Given the description of an element on the screen output the (x, y) to click on. 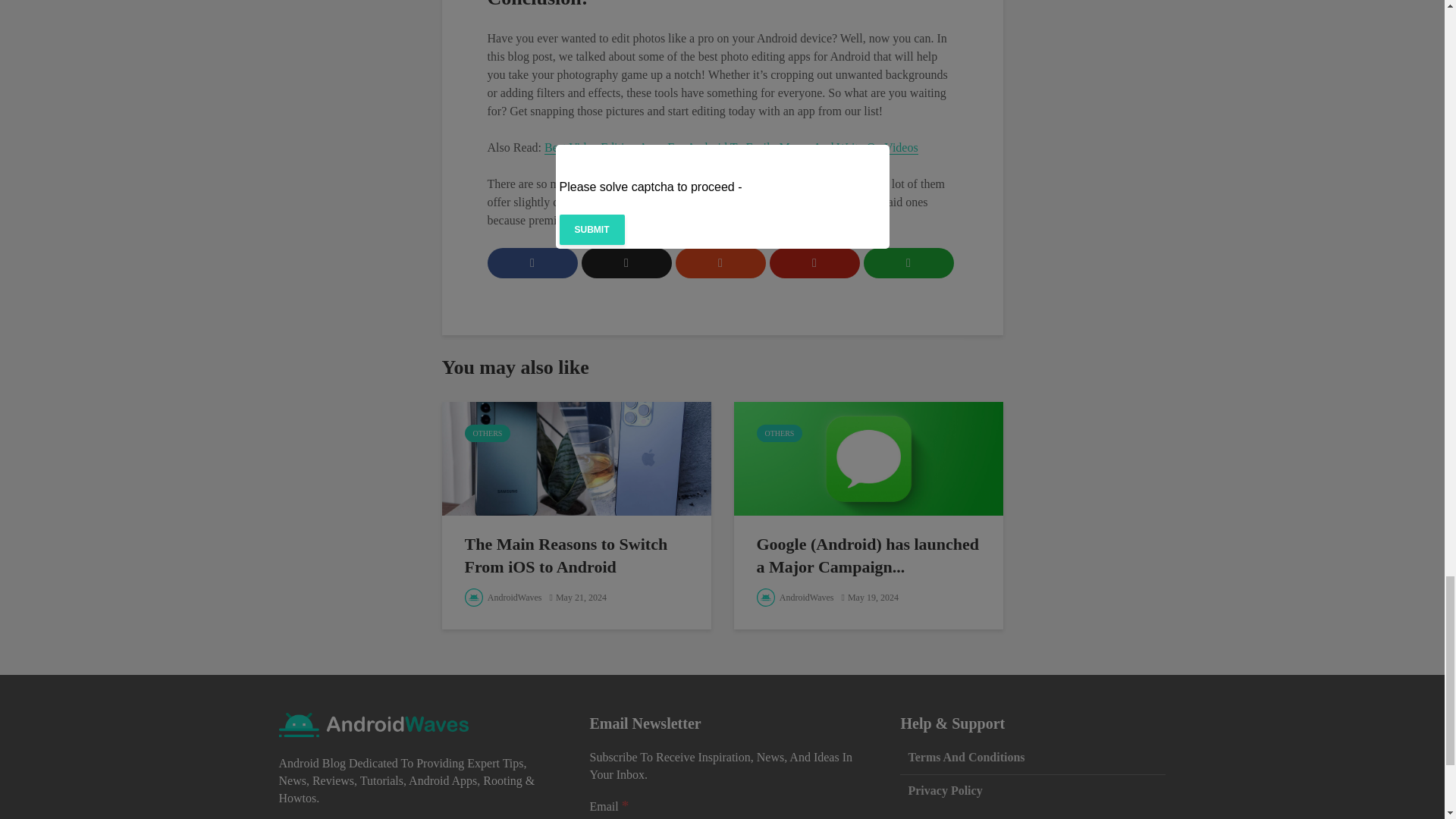
OTHERS (487, 433)
The Main Reasons to Switch From iOS to Android (575, 555)
photo editing apps (624, 183)
OTHERS (780, 433)
The Main Reasons to Switch From iOS to Android (575, 457)
AndroidWaves (502, 597)
